Given the description of an element on the screen output the (x, y) to click on. 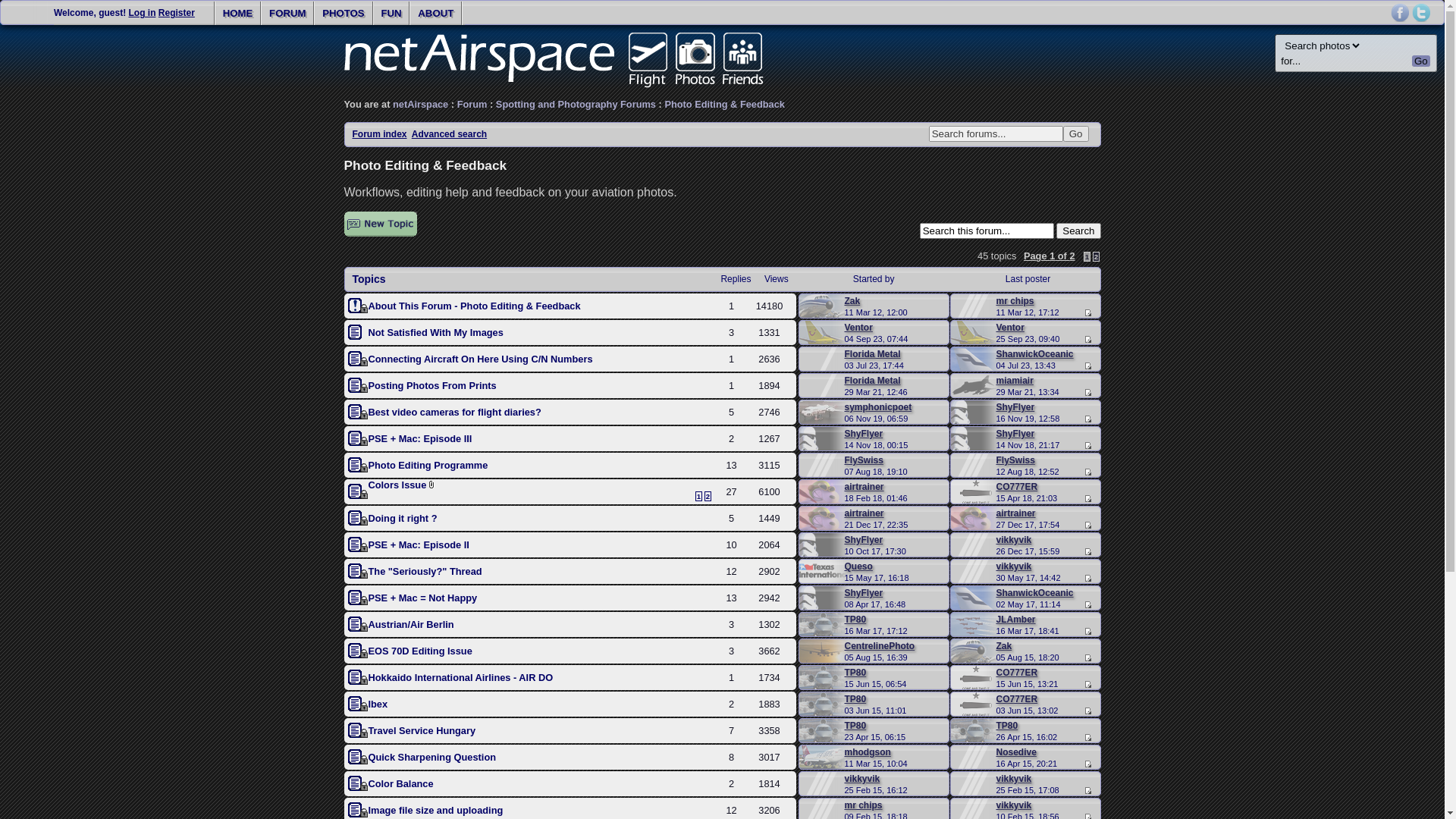
CO777ER Element type: text (1017, 698)
CentrelinePhoto Element type: text (879, 645)
airtrainer Element type: text (864, 486)
Photo Editing Programme Element type: text (428, 464)
Zak Element type: text (852, 300)
vikkyvik Element type: text (1014, 539)
CO777ER Element type: text (1017, 486)
TP80 Element type: text (855, 619)
Ventor Element type: text (1010, 327)
HOME Element type: text (237, 13)
View the latest post Element type: hover (1086, 551)
2 Element type: text (1095, 256)
PSE + Mac = Not Happy Element type: text (422, 597)
Best video cameras for flight diaries? Element type: text (454, 411)
Florida Metal Element type: text (872, 380)
TP80 Element type: text (855, 698)
Search forums... Element type: text (995, 133)
Zak Element type: text (1004, 645)
TP80 Element type: text (1007, 725)
vikkyvik Element type: text (862, 778)
mr chips Element type: text (863, 805)
Not Satisfied With My Images Element type: text (435, 332)
Attachment(s) Element type: hover (431, 484)
View the latest post Element type: hover (1086, 524)
View the latest post Element type: hover (1086, 577)
View the latest post Element type: hover (1086, 392)
Posting Photos From Prints Element type: text (432, 385)
Hokkaido International Airlines - AIR DO Element type: text (460, 677)
Color Balance Element type: text (400, 783)
ShanwickOceanic Element type: text (1034, 353)
ShyFlyer Element type: text (863, 433)
About This Forum - Photo Editing & Feedback Element type: text (474, 305)
Photo Editing & Feedback Element type: text (425, 164)
Page 1 of 2 Element type: text (1049, 255)
Ventor Element type: text (858, 327)
Post a new topic Element type: text (380, 223)
Register Element type: text (176, 12)
View the latest post Element type: hover (1086, 790)
miamiair Element type: text (1014, 380)
View the latest post Element type: hover (1086, 312)
View the latest post Element type: hover (1086, 657)
TP80 Element type: text (855, 672)
netAirspace Element type: text (420, 103)
Search this forum... Element type: text (986, 230)
Austrian/Air Berlin Element type: text (411, 624)
PSE + Mac: Episode III Element type: text (420, 438)
EOS 70D Editing Issue Element type: text (420, 650)
FlySwiss Element type: text (1015, 460)
Tweet this Element type: hover (1421, 12)
Florida Metal Element type: text (872, 353)
View the latest post Element type: hover (1086, 365)
Share on Facebook Element type: hover (1399, 12)
Go Element type: text (1075, 133)
ShyFlyer Element type: text (1015, 433)
Image file size and uploading Element type: text (435, 809)
1 Element type: text (698, 496)
Forum index Element type: text (378, 133)
mr chips Element type: text (1015, 300)
vikkyvik Element type: text (1014, 566)
Quick Sharpening Question Element type: text (432, 756)
Go Element type: text (1421, 60)
View the latest post Element type: hover (1086, 445)
FlySwiss Element type: text (863, 460)
Queso Element type: text (858, 566)
Doing it right ? Element type: text (402, 518)
Colors Issue Element type: text (397, 484)
Advanced search Element type: text (448, 133)
PSE + Mac: Episode II Element type: text (418, 544)
View the latest post Element type: hover (1086, 604)
symphonicpoet Element type: text (878, 406)
Travel Service Hungary Element type: text (422, 730)
FUN Element type: text (391, 13)
Ibex Element type: text (378, 703)
FORUM Element type: text (287, 13)
Forum Element type: text (472, 103)
JLAmber Element type: text (1015, 619)
vikkyvik Element type: text (1014, 805)
ShyFlyer Element type: text (1015, 406)
View the latest post Element type: hover (1086, 737)
ShyFlyer Element type: text (863, 539)
Nosedive Element type: text (1016, 751)
ShanwickOceanic Element type: text (1034, 592)
View the latest post Element type: hover (1086, 471)
The "Seriously?" Thread Element type: text (425, 571)
View the latest post Element type: hover (1086, 710)
mhodgson Element type: text (867, 751)
2 Element type: text (707, 496)
Photo Editing & Feedback Element type: text (724, 103)
ShyFlyer Element type: text (863, 592)
View the latest post Element type: hover (1086, 338)
View the latest post Element type: hover (1086, 630)
Spotting and Photography Forums Element type: text (575, 103)
Connecting Aircraft On Here Using C/N Numbers Element type: text (480, 358)
ABOUT Element type: text (435, 13)
airtrainer Element type: text (1015, 513)
TP80 Element type: text (855, 725)
CO777ER Element type: text (1017, 672)
Search Element type: text (1078, 230)
View the latest post Element type: hover (1086, 683)
airtrainer Element type: text (864, 513)
View the latest post Element type: hover (1086, 763)
PHOTOS Element type: text (342, 13)
View the latest post Element type: hover (1086, 498)
vikkyvik Element type: text (1014, 778)
Log in Element type: text (141, 12)
View the latest post Element type: hover (1086, 418)
